Given the description of an element on the screen output the (x, y) to click on. 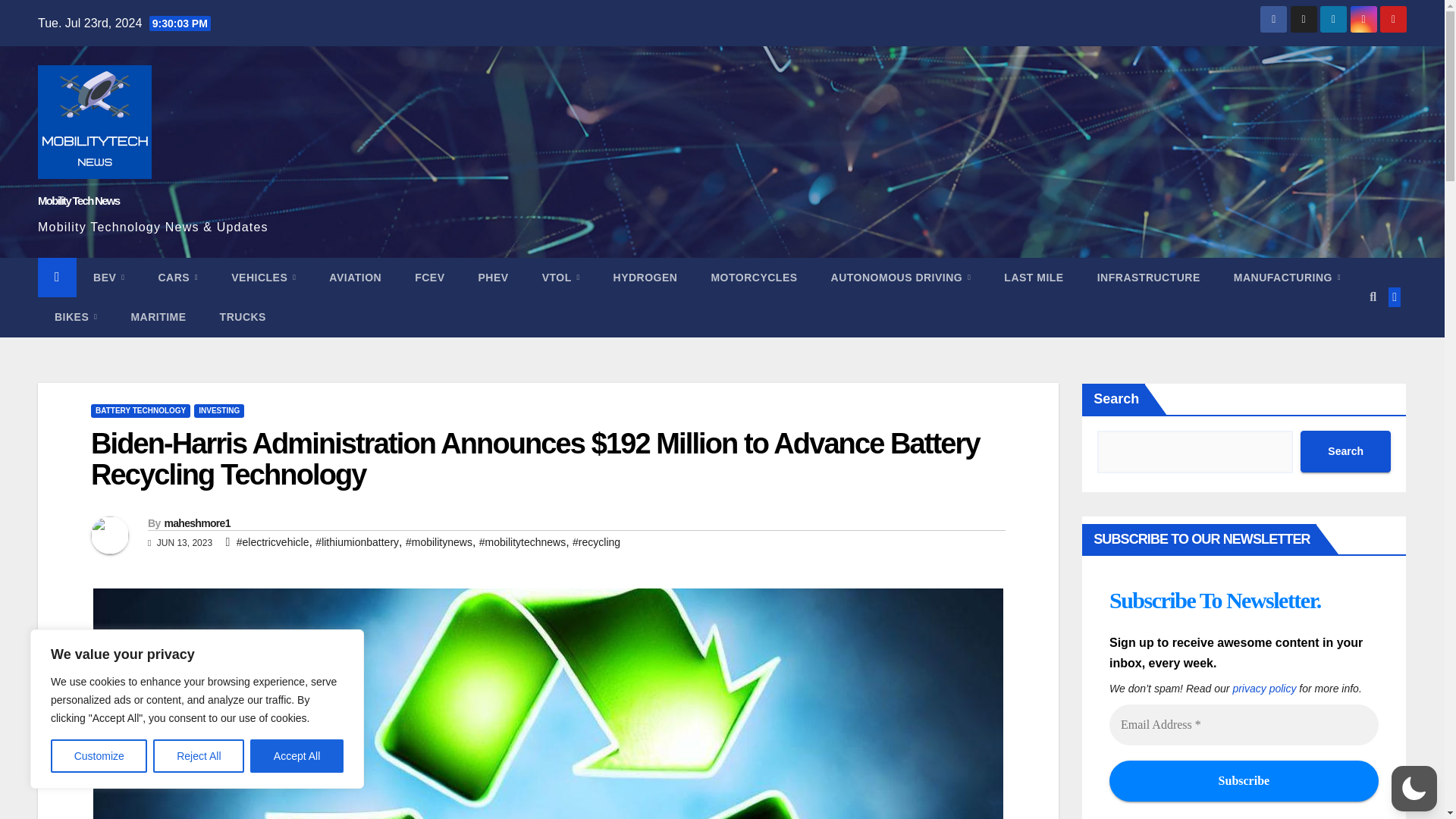
Accept All (296, 756)
BEV (109, 277)
VEHICLES (263, 277)
Reject All (198, 756)
Customize (98, 756)
Subscribe (1243, 780)
Vehicles (263, 277)
CARS (177, 277)
BEV (109, 277)
Cars (177, 277)
Mobility Tech News (78, 200)
